Given the description of an element on the screen output the (x, y) to click on. 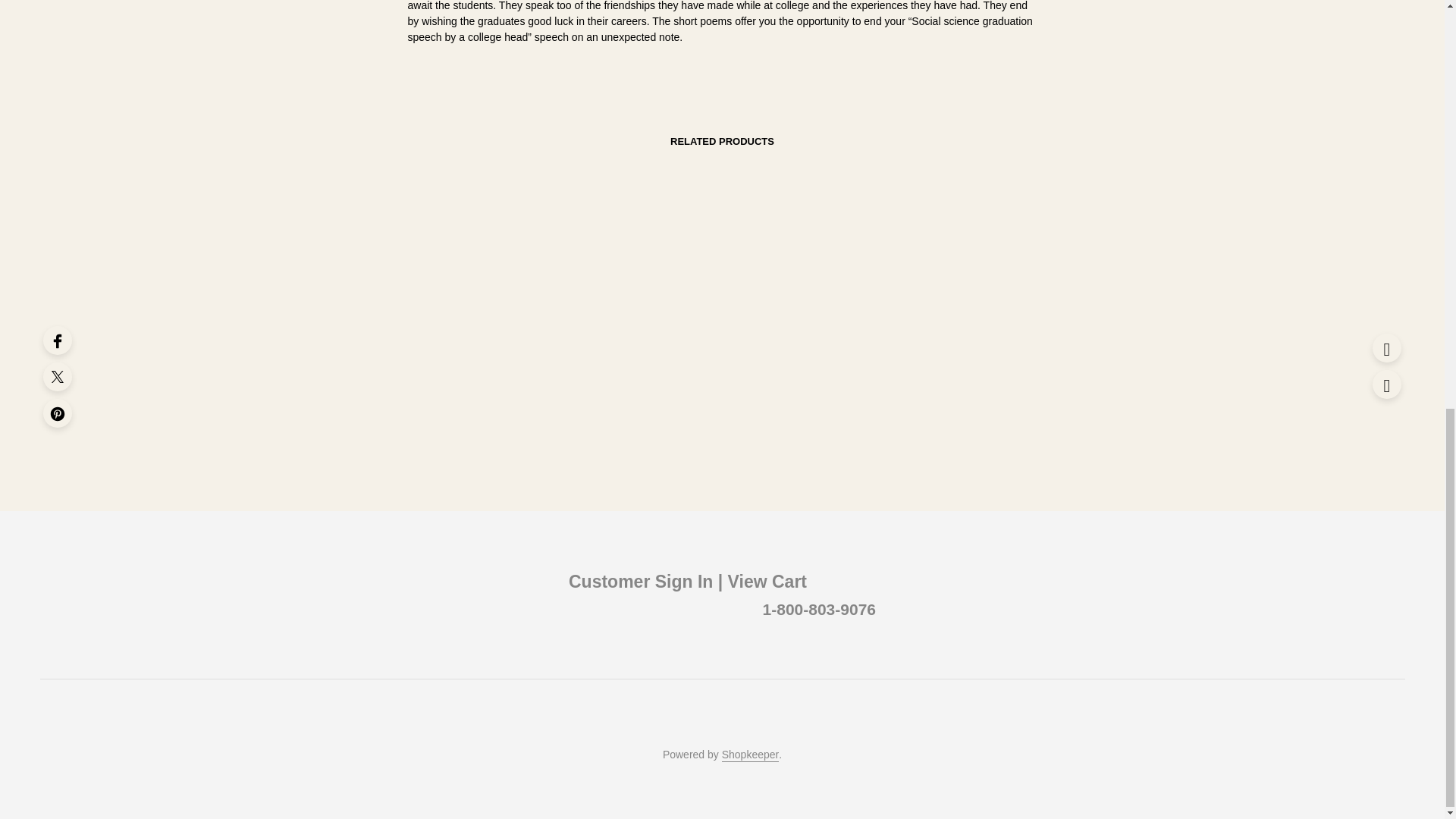
eCommerce WordPress Theme for Woocommerce (750, 755)
